Given the description of an element on the screen output the (x, y) to click on. 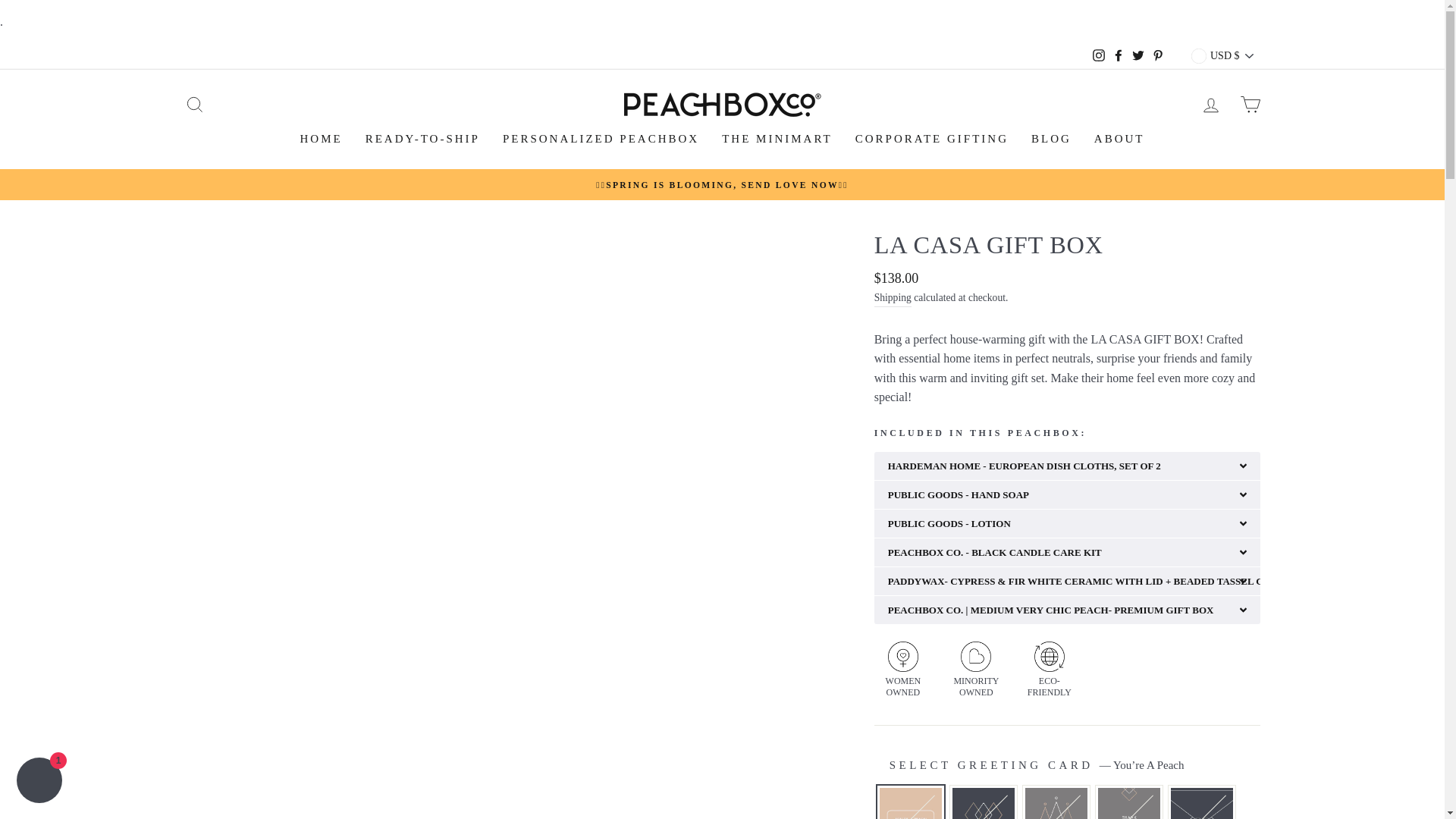
PEACHBOX CO. on Twitter (1138, 55)
Instagram (1098, 55)
Pinterest (1157, 55)
PEACHBOX CO. on Pinterest (1157, 55)
PEACHBOX CO. on Facebook (1118, 55)
PEACHBOX CO. on Instagram (1098, 55)
Twitter (1138, 55)
Facebook (1118, 55)
